Given the description of an element on the screen output the (x, y) to click on. 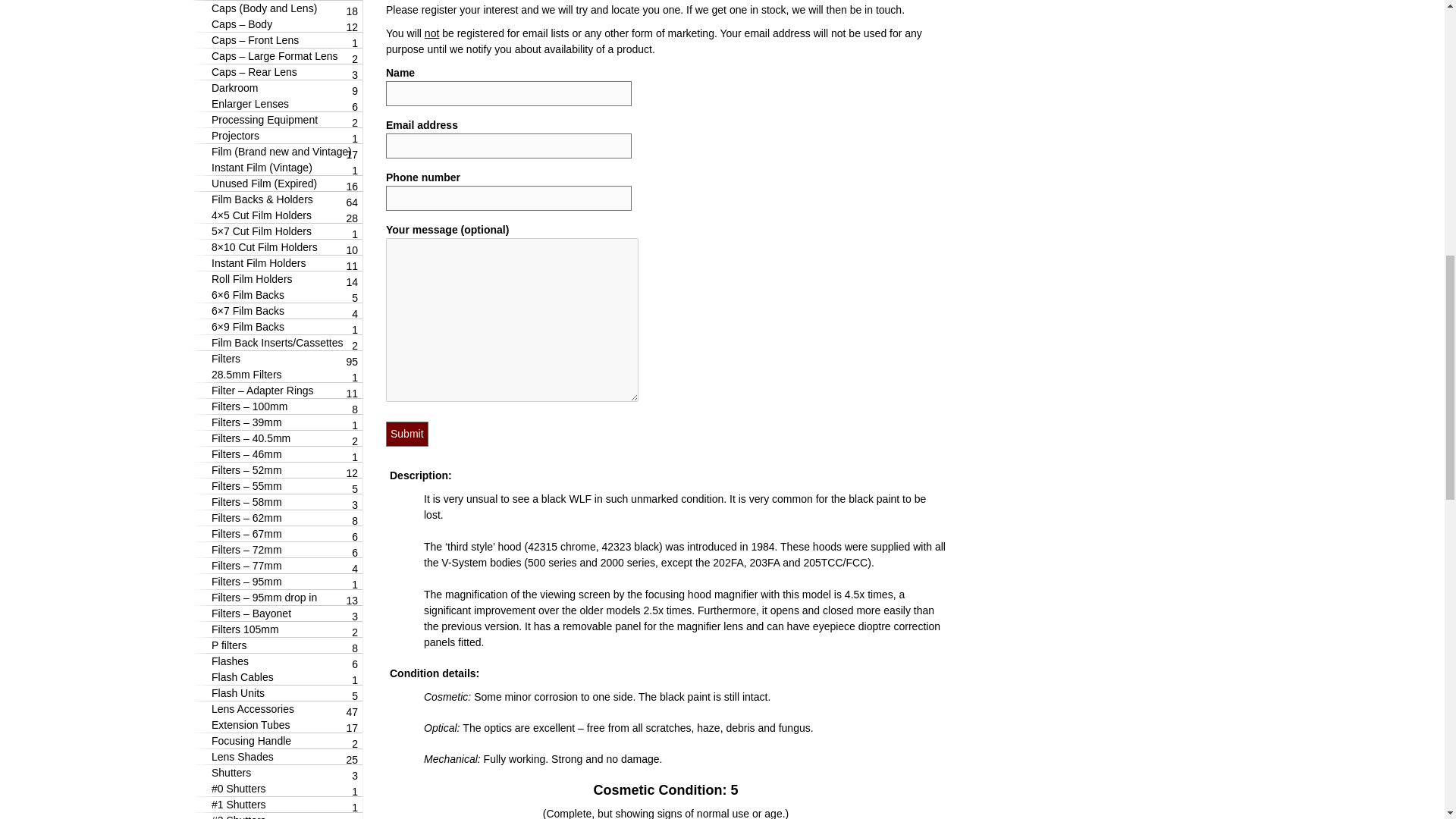
Submit (406, 433)
